Given the description of an element on the screen output the (x, y) to click on. 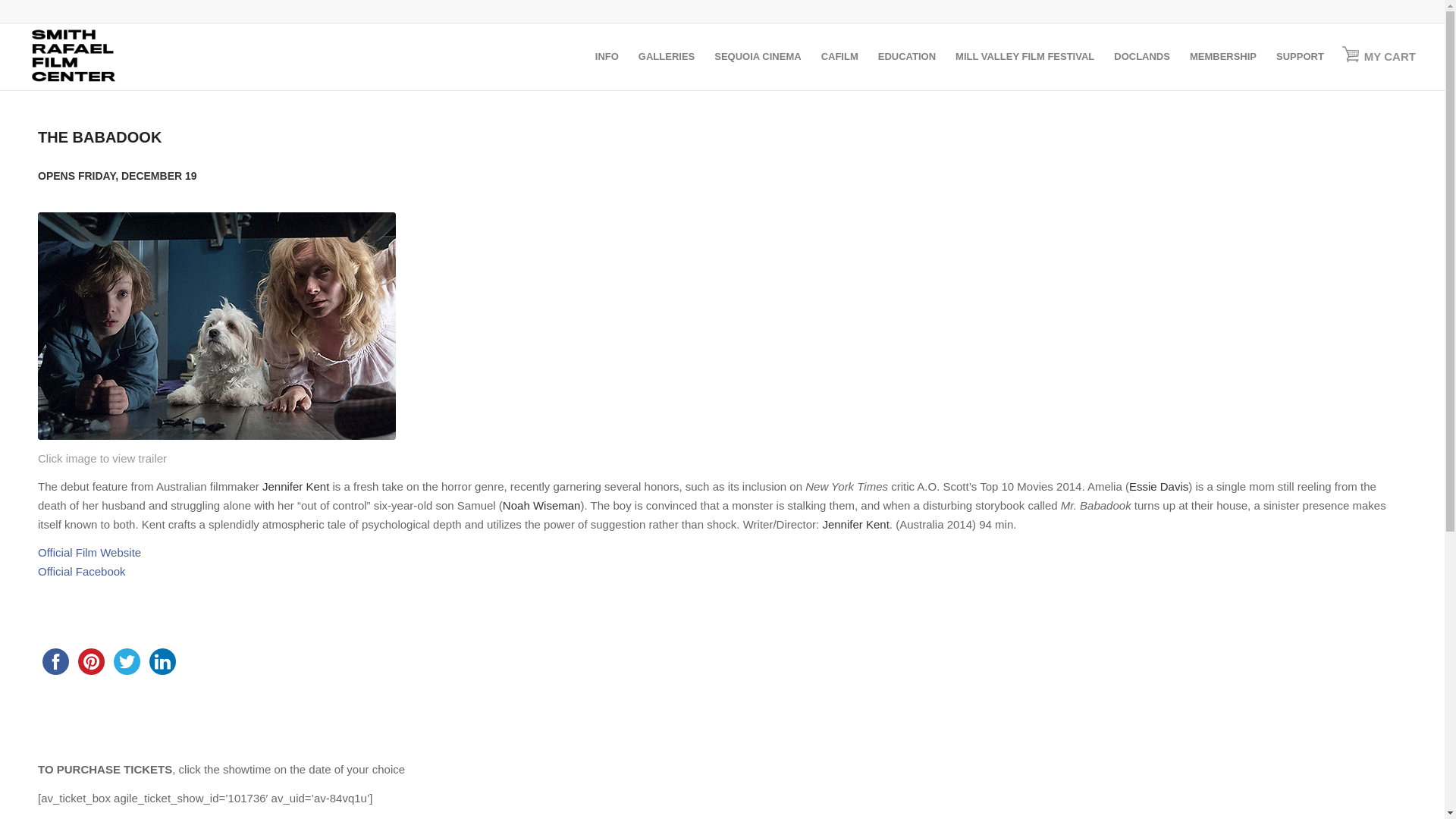
MILL VALLEY FILM FESTIVAL (1023, 56)
MEMBERSHIP (1222, 56)
SEQUOIA CINEMA (757, 56)
CAFILM (838, 56)
EDUCATION (905, 56)
DOCLANDS (1141, 56)
GALLERIES (666, 56)
INFO (606, 56)
